Given the description of an element on the screen output the (x, y) to click on. 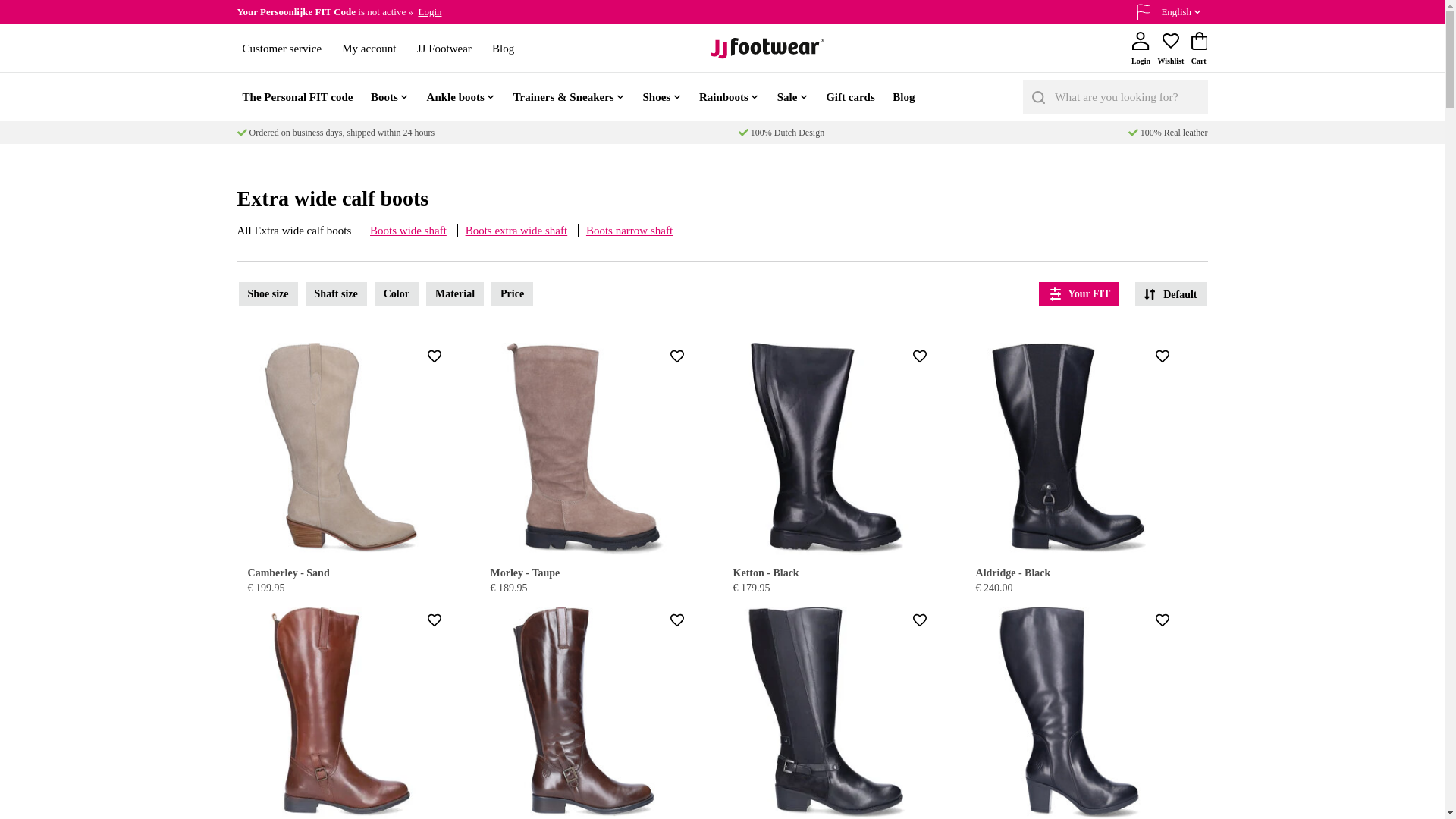
Blog (502, 47)
English (1169, 12)
My account (429, 11)
JJ Footwear (444, 47)
My account (368, 47)
Customer service (280, 47)
Login (429, 11)
